Given the description of an element on the screen output the (x, y) to click on. 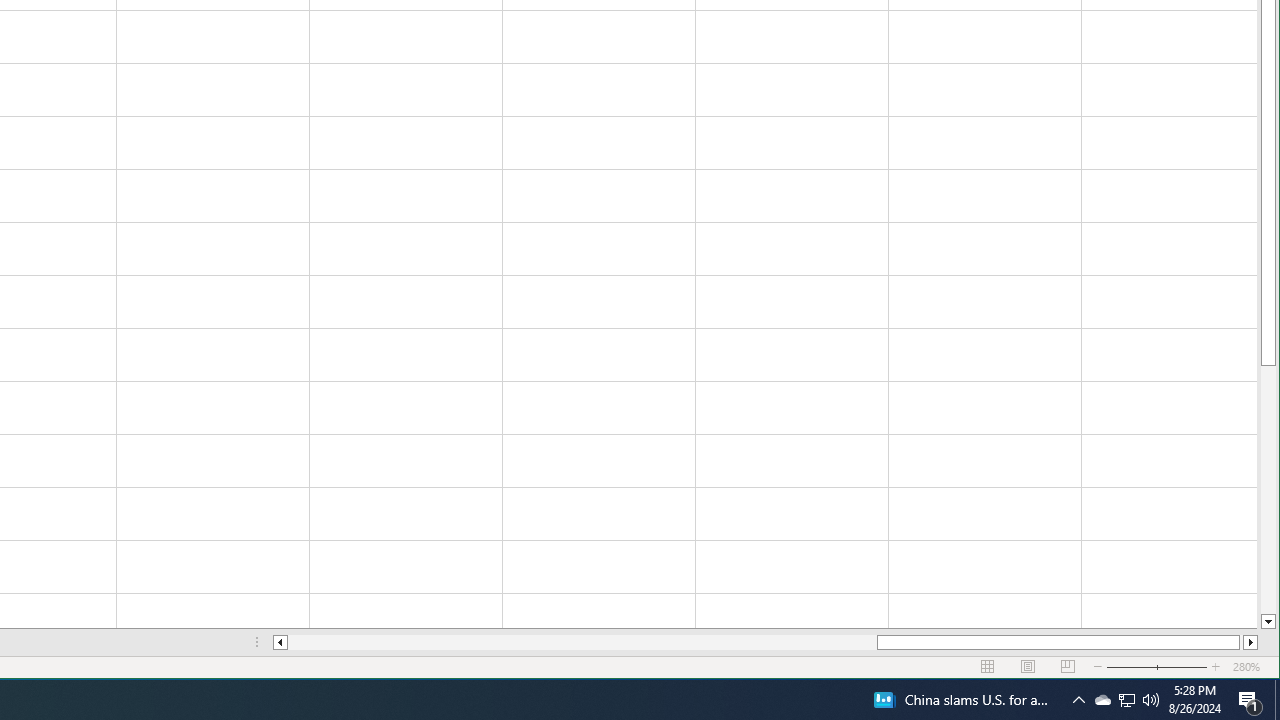
Page Layout (1028, 667)
Q2790: 100% (1151, 699)
Zoom (1126, 699)
Zoom In (1157, 667)
Notification Chevron (1215, 667)
Zoom Out (1078, 699)
Action Center, 1 new notification (1144, 667)
User Promoted Notification Area (1250, 699)
Class: NetUIScrollBar (1126, 699)
Column left (765, 642)
Line down (279, 642)
Page left (1268, 622)
Show desktop (582, 642)
